Given the description of an element on the screen output the (x, y) to click on. 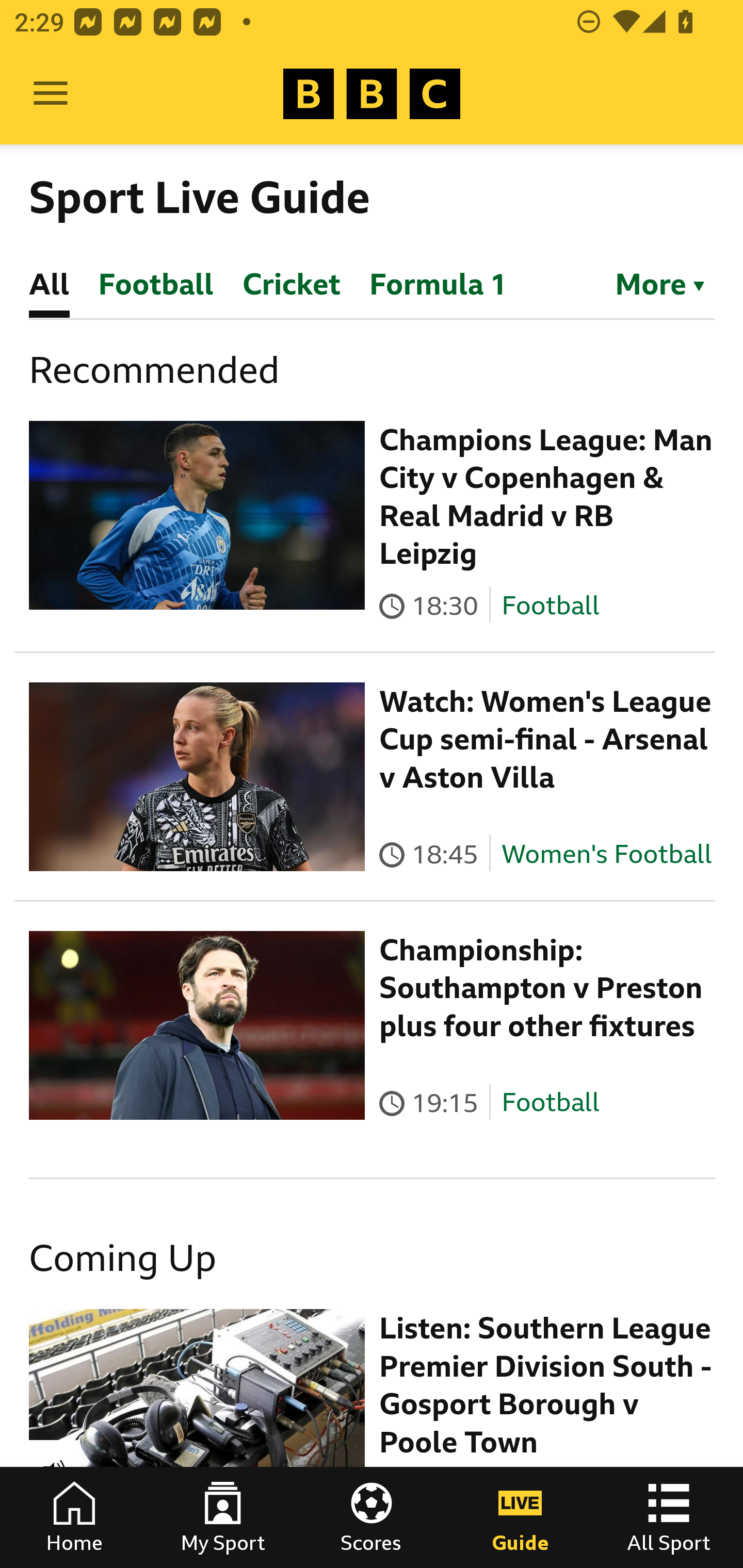
Open Menu (50, 93)
Football (550, 604)
Women's Football (606, 853)
Football (550, 1102)
Home (74, 1517)
My Sport (222, 1517)
Scores (371, 1517)
All Sport (668, 1517)
